Given the description of an element on the screen output the (x, y) to click on. 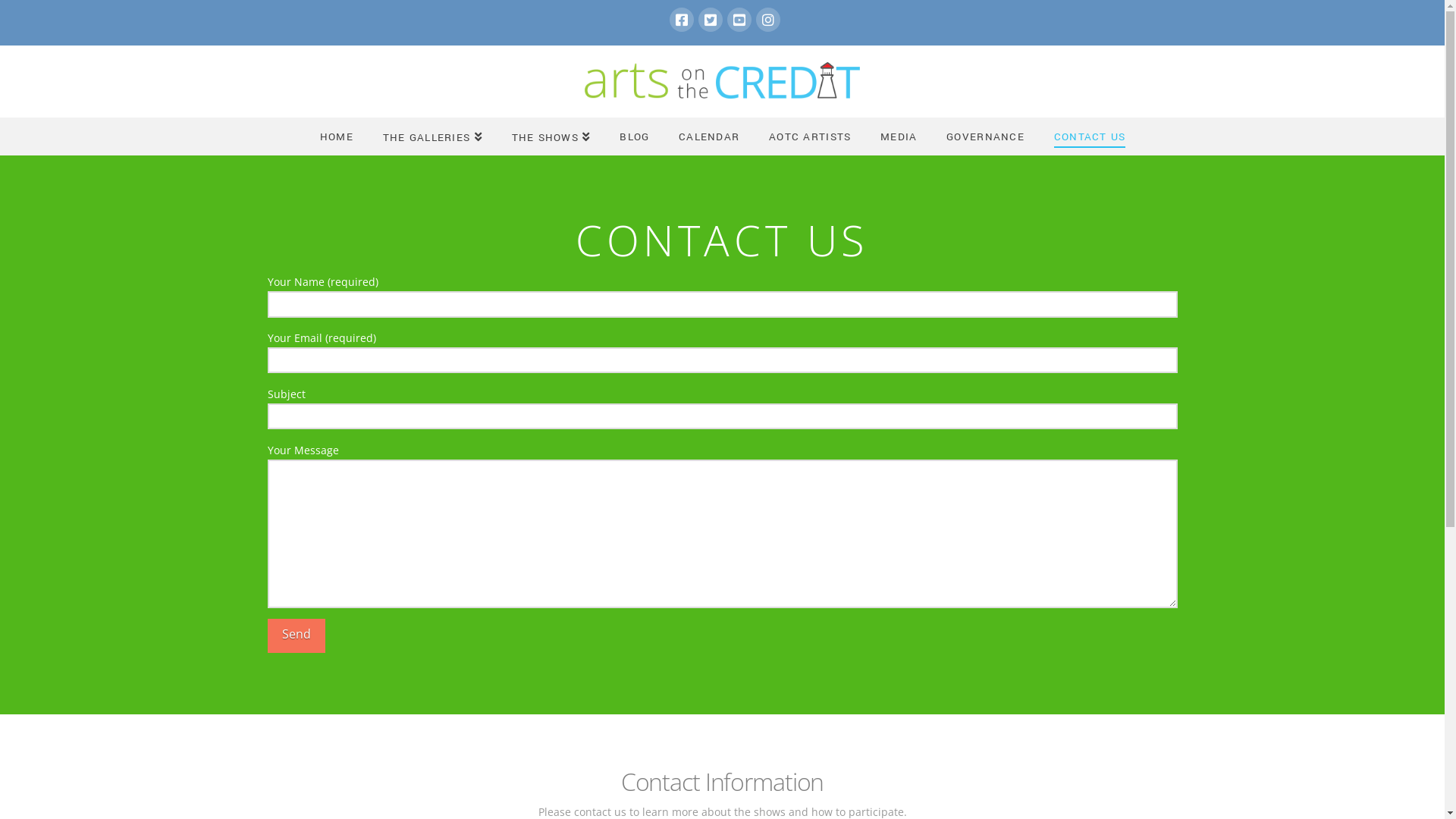
CONTACT US Element type: text (1088, 136)
HOME Element type: text (335, 136)
YouTube Element type: hover (738, 19)
GOVERNANCE Element type: text (984, 136)
MEDIA Element type: text (898, 136)
Instagram Element type: hover (767, 19)
Facebook Element type: hover (680, 19)
CALENDAR Element type: text (708, 136)
Send Element type: text (295, 635)
THE GALLERIES Element type: text (431, 136)
Twitter Element type: hover (709, 19)
THE SHOWS Element type: text (550, 136)
AOTC ARTISTS Element type: text (809, 136)
BLOG Element type: text (633, 136)
